Given the description of an element on the screen output the (x, y) to click on. 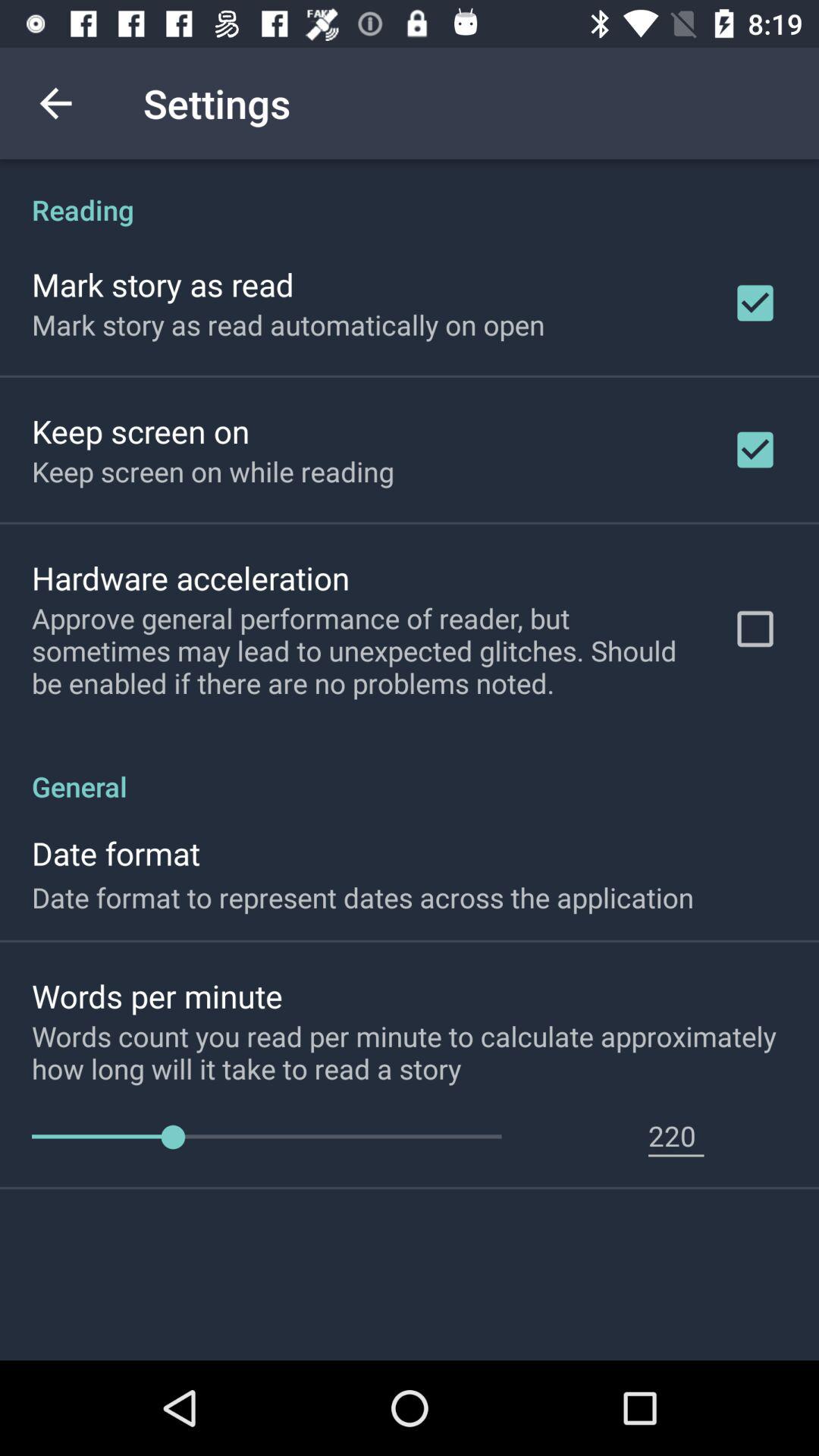
click hardware acceleration item (190, 577)
